Given the description of an element on the screen output the (x, y) to click on. 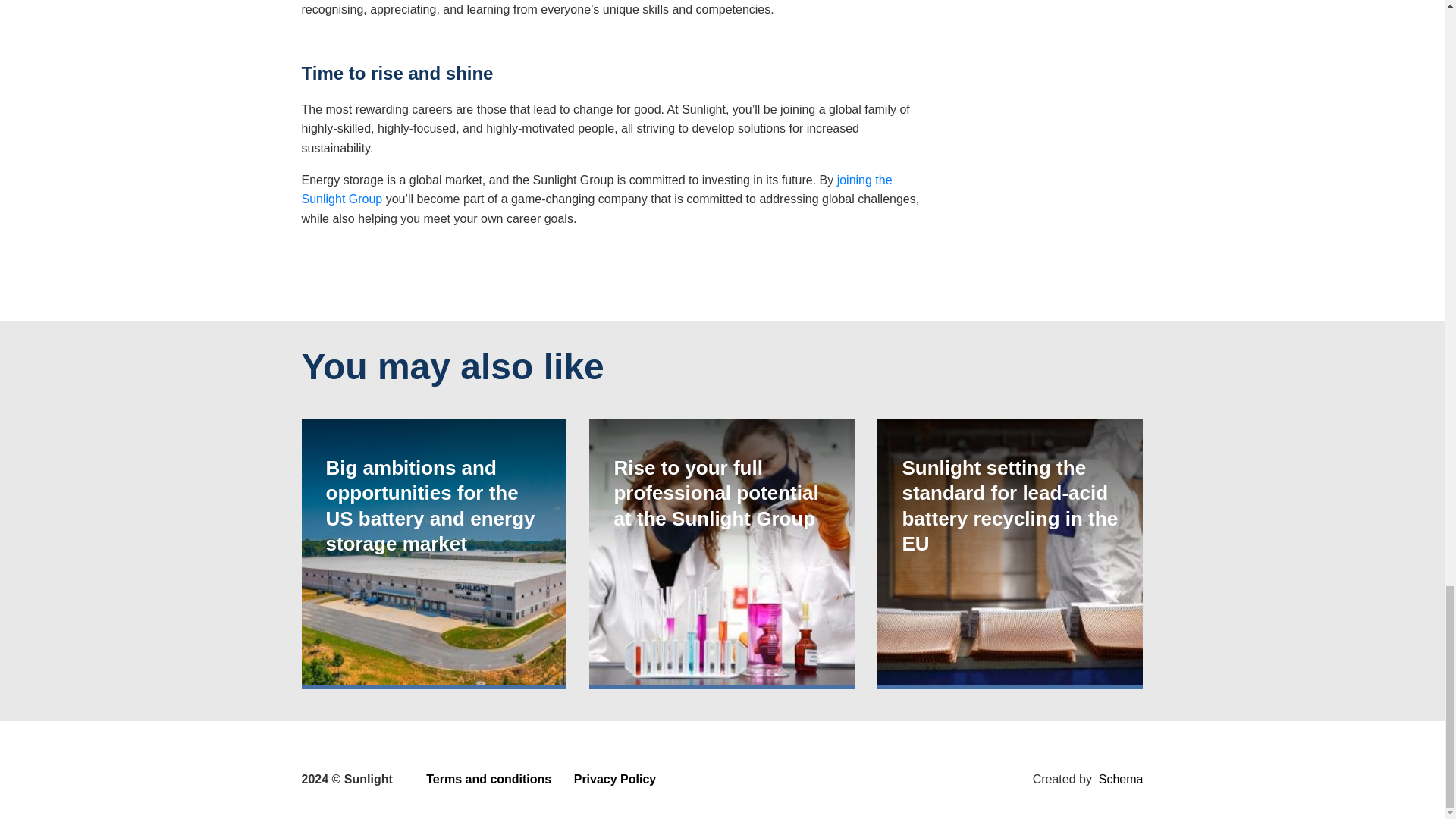
Terms and conditions (488, 779)
Privacy Policy (614, 779)
joining the Sunlight Group (596, 189)
Schema (1120, 779)
